Given the description of an element on the screen output the (x, y) to click on. 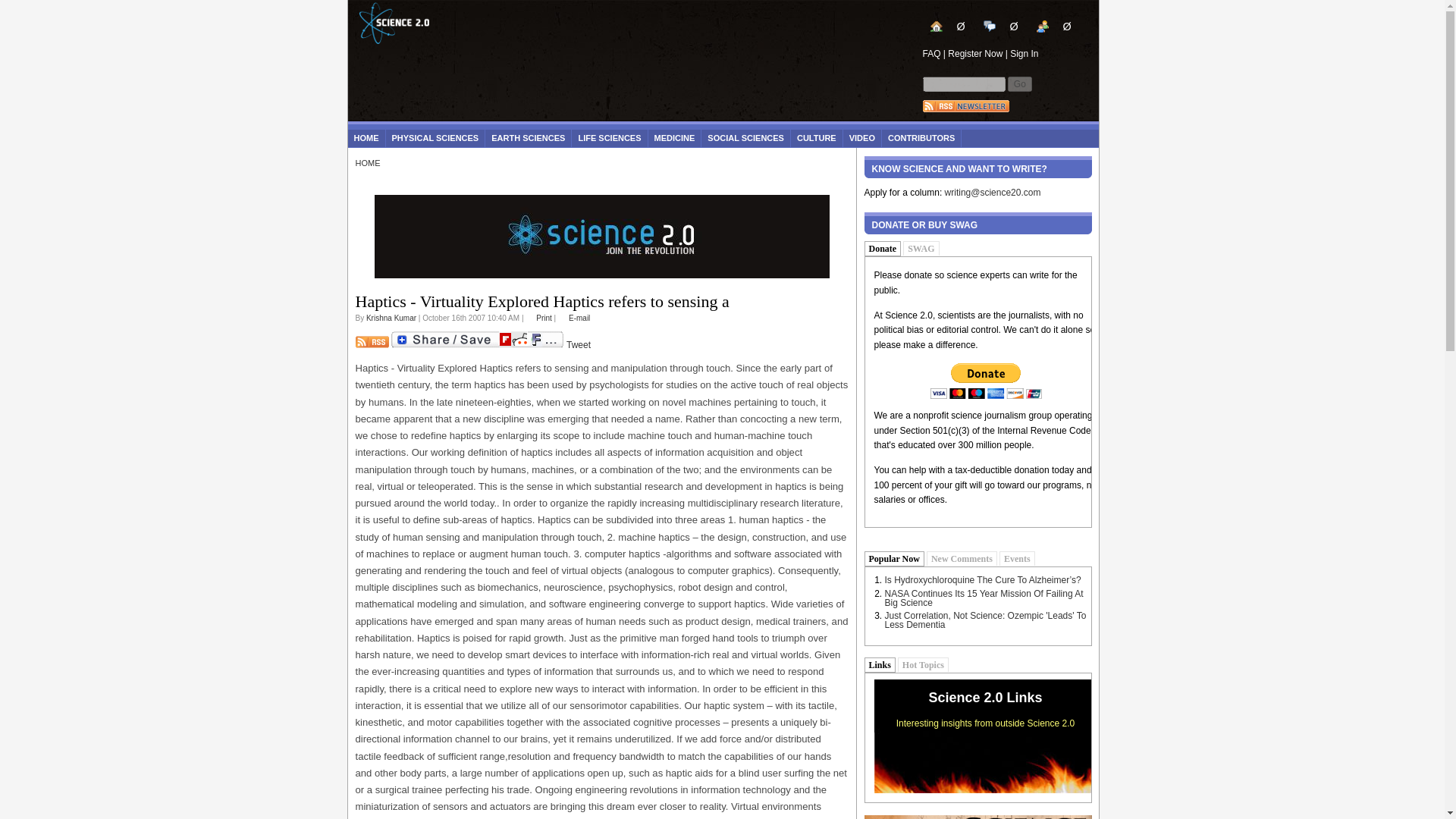
HOME (365, 138)
Register Now (975, 53)
Sign In (1024, 53)
EARTH SCIENCES (527, 138)
PHYSICAL SCIENCES (434, 138)
Sign in and track comments on your writing... (1005, 30)
LIFE SCIENCES (609, 138)
View user profile. (391, 317)
Sign in and see comments by people on your friends list... (1054, 26)
Go (1019, 83)
PayPal - The safer, easier way to pay online! (986, 380)
Enter the terms you wish to search for. (962, 83)
Go (1019, 83)
